Given the description of an element on the screen output the (x, y) to click on. 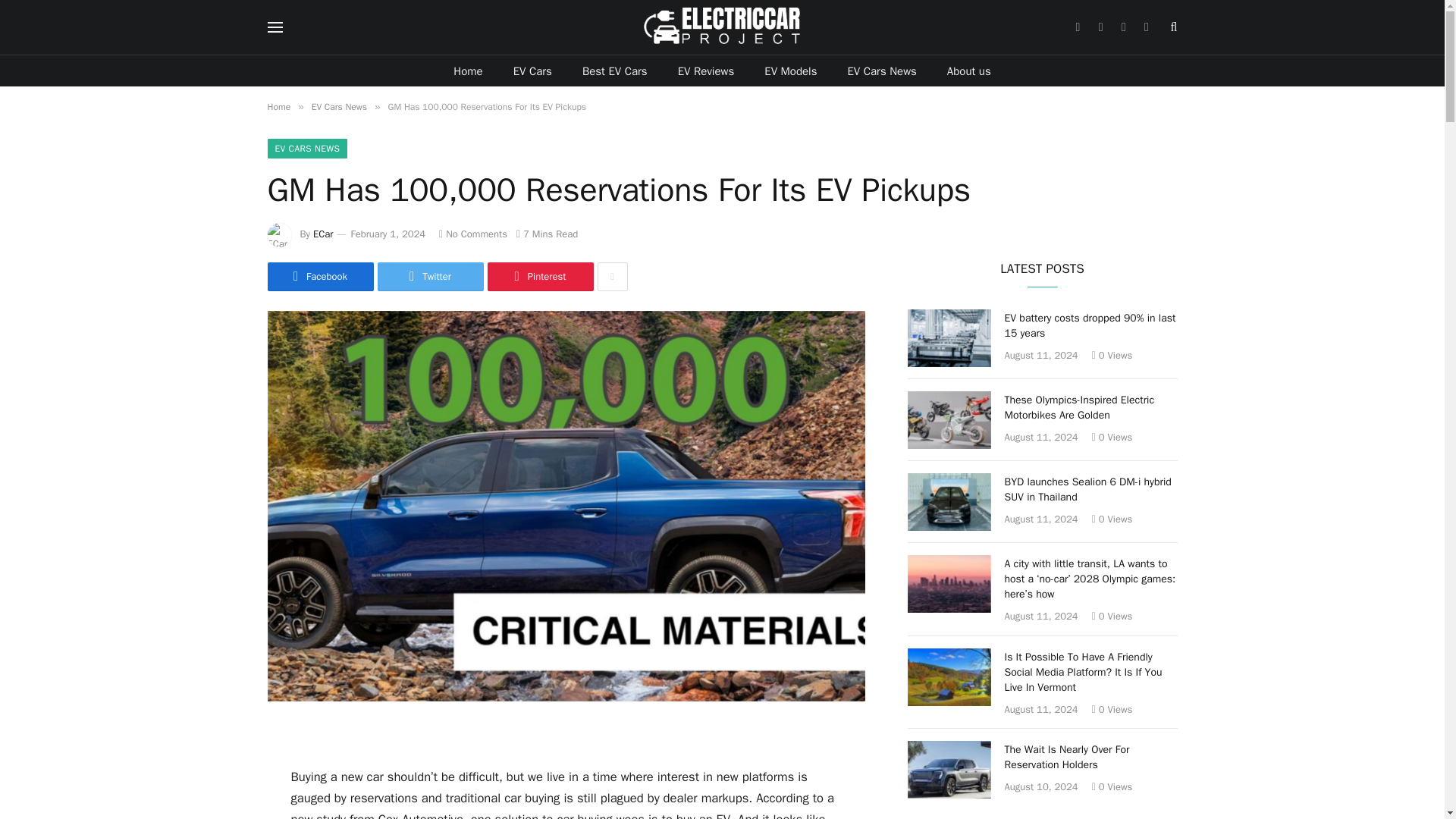
Electric Car Project (722, 27)
EV CARS NEWS (306, 148)
Share on Pinterest (539, 276)
About us (968, 70)
Home (467, 70)
EV Cars News (338, 106)
Posts by ECar (323, 233)
Twitter (430, 276)
Home (277, 106)
EV Reviews (705, 70)
